Given the description of an element on the screen output the (x, y) to click on. 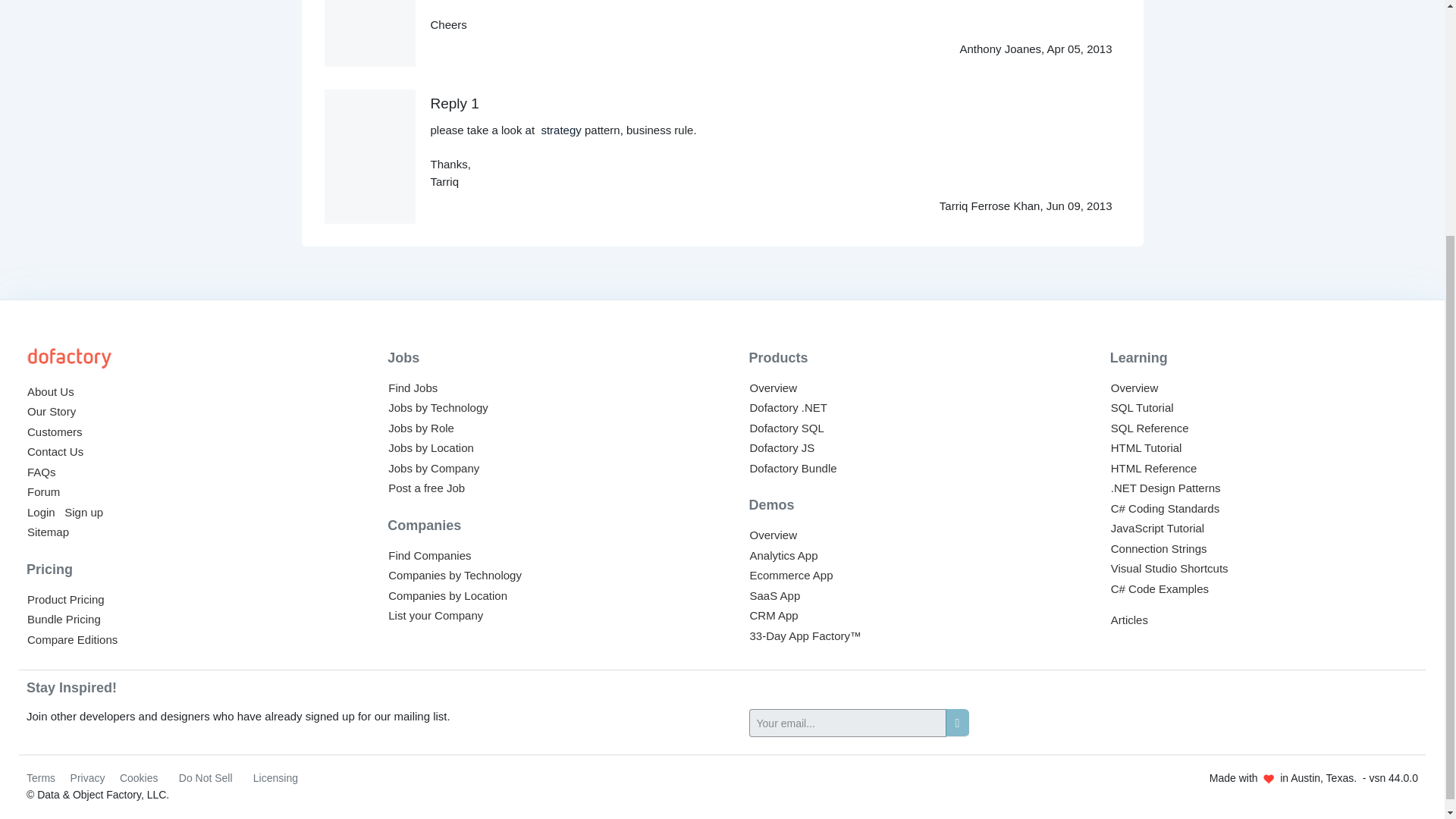
Sign up (83, 512)
Customers (54, 431)
Contact Us (54, 451)
Sitemap (47, 531)
About Us (50, 391)
Forum (43, 491)
Login (41, 512)
strategy (560, 129)
FAQs (41, 472)
Our Story (51, 410)
